Given the description of an element on the screen output the (x, y) to click on. 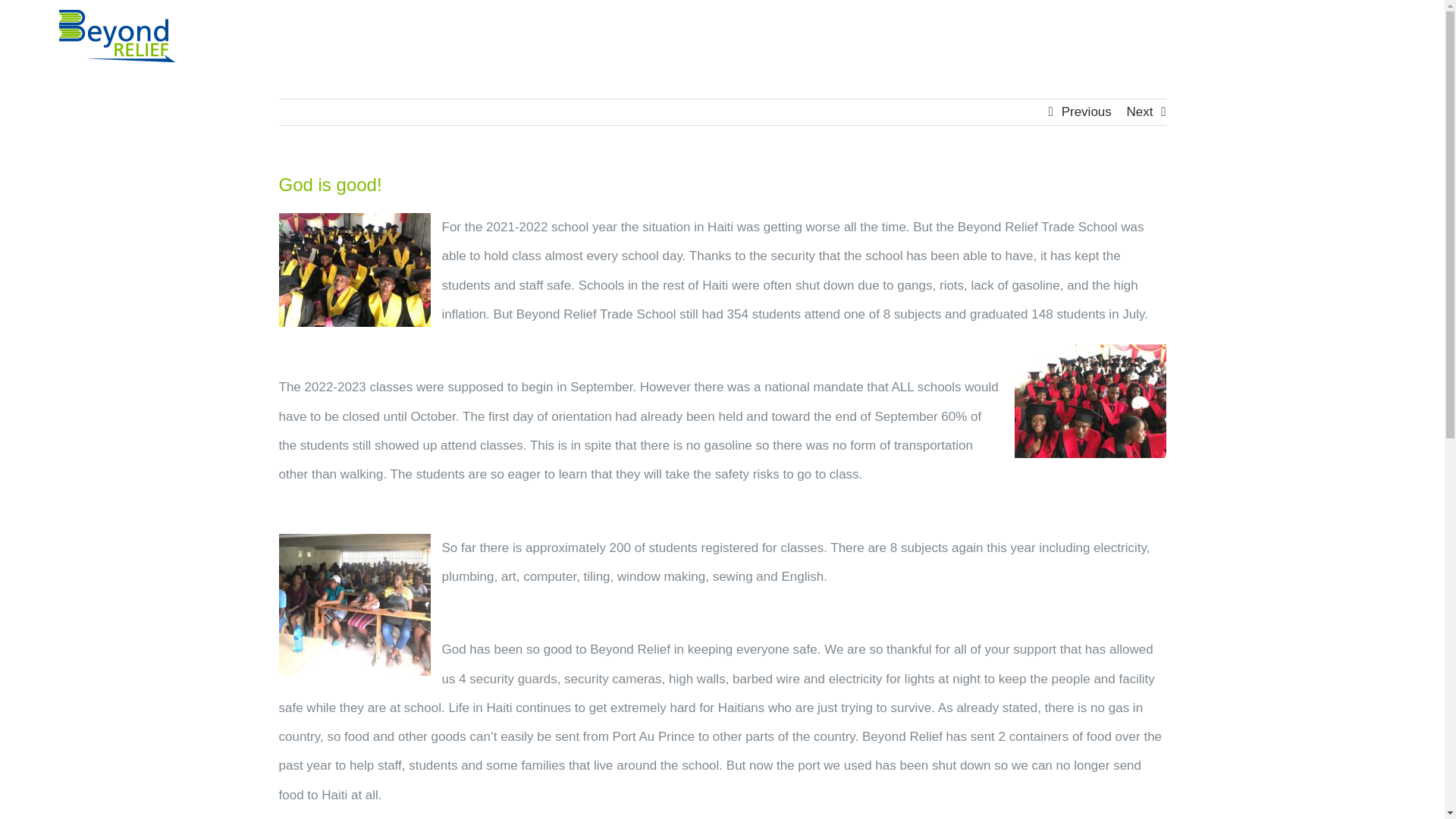
Next (1139, 112)
CHANGED LIVES (998, 36)
MAKE AN IMPACT (1197, 36)
Previous (1086, 112)
